Given the description of an element on the screen output the (x, y) to click on. 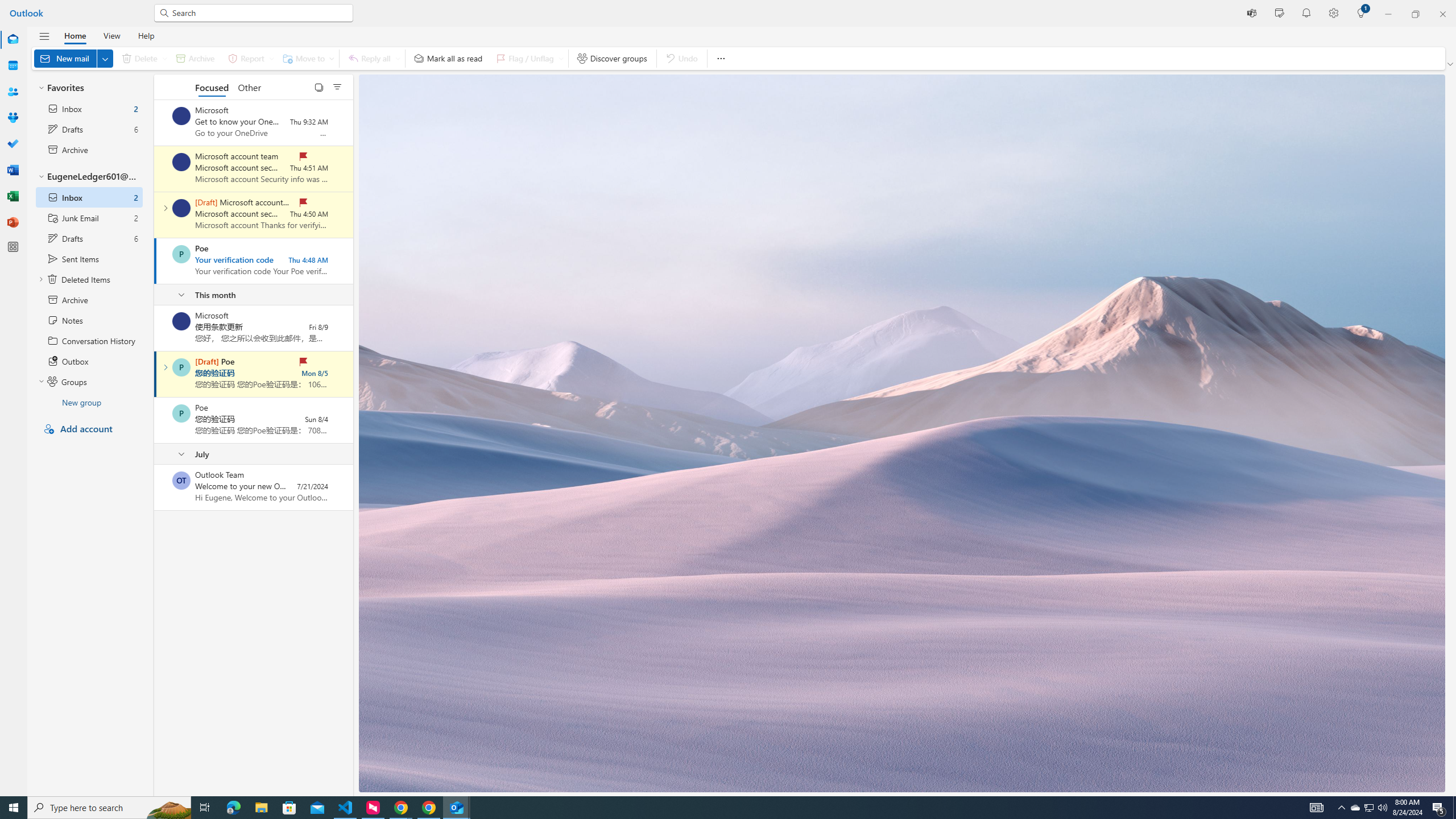
Delete (141, 58)
Mark as unread (154, 487)
Microsoft account team (180, 208)
More apps (12, 246)
Discover groups (611, 58)
Report (248, 58)
To Do (12, 143)
Groups (12, 117)
Other (248, 86)
PowerPoint (12, 222)
Mark as read (154, 374)
Archive (194, 58)
Excel (12, 196)
Groups (12, 118)
